Given the description of an element on the screen output the (x, y) to click on. 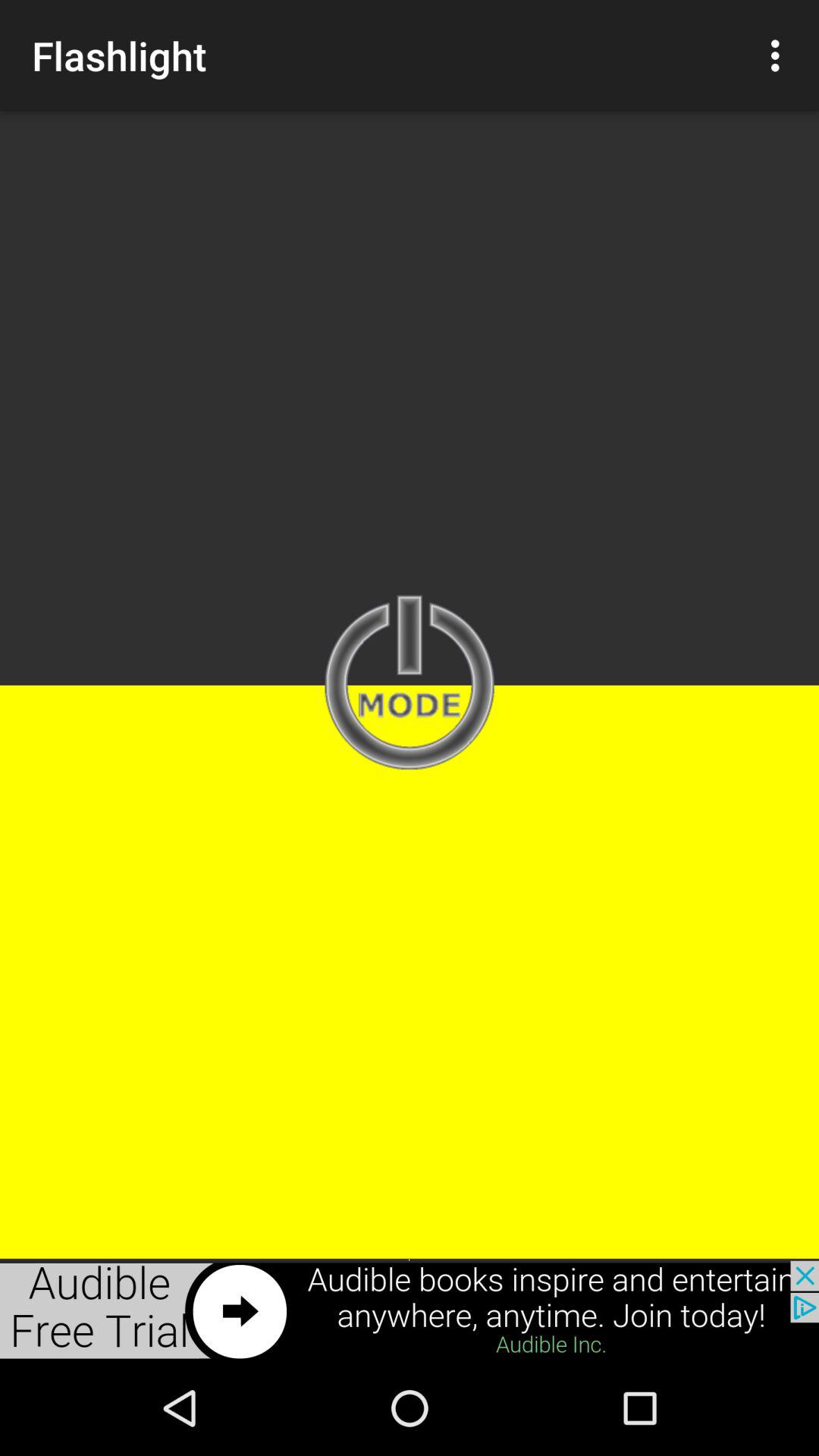
button page (409, 684)
